Given the description of an element on the screen output the (x, y) to click on. 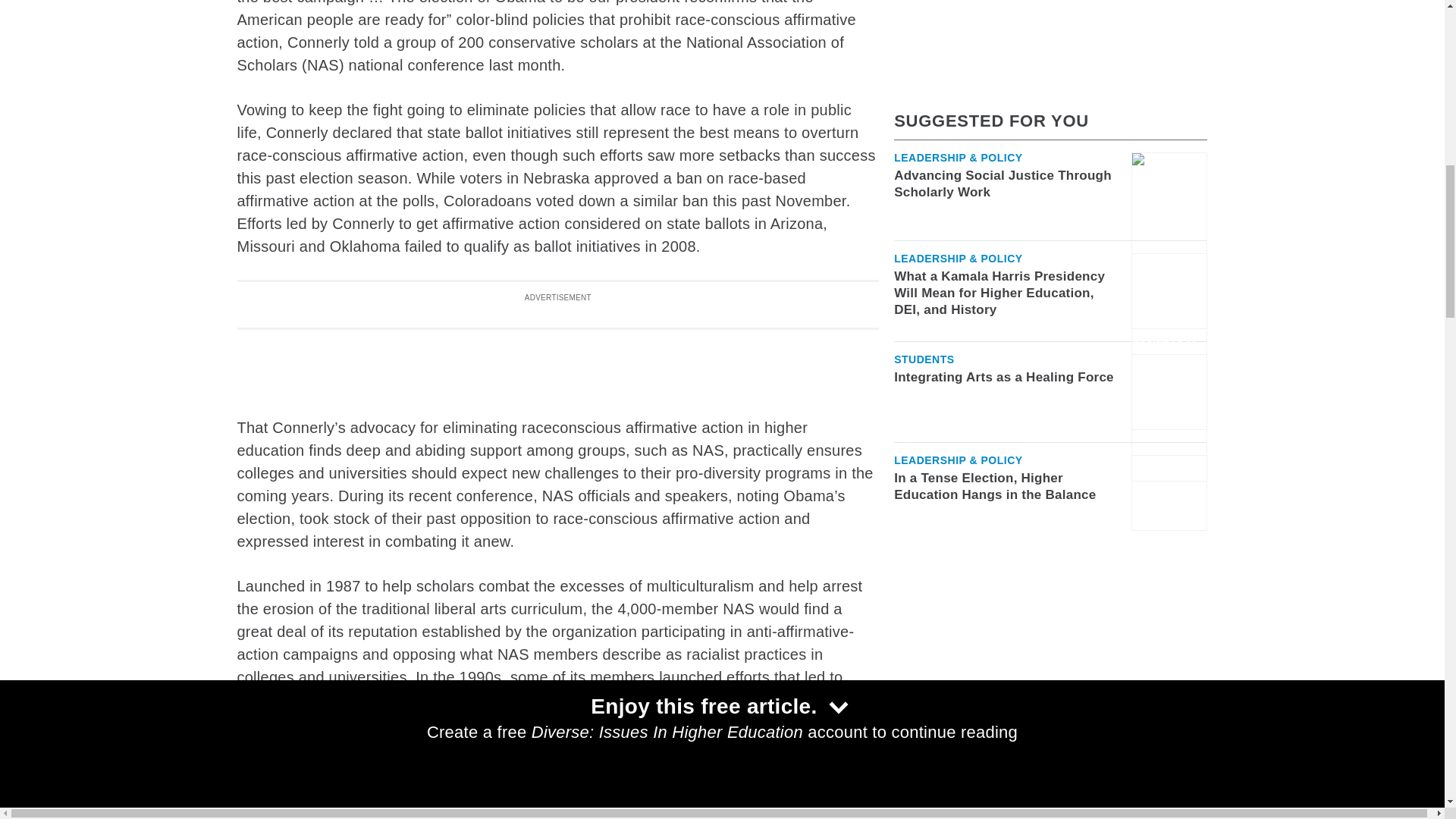
Students (923, 127)
